Given the description of an element on the screen output the (x, y) to click on. 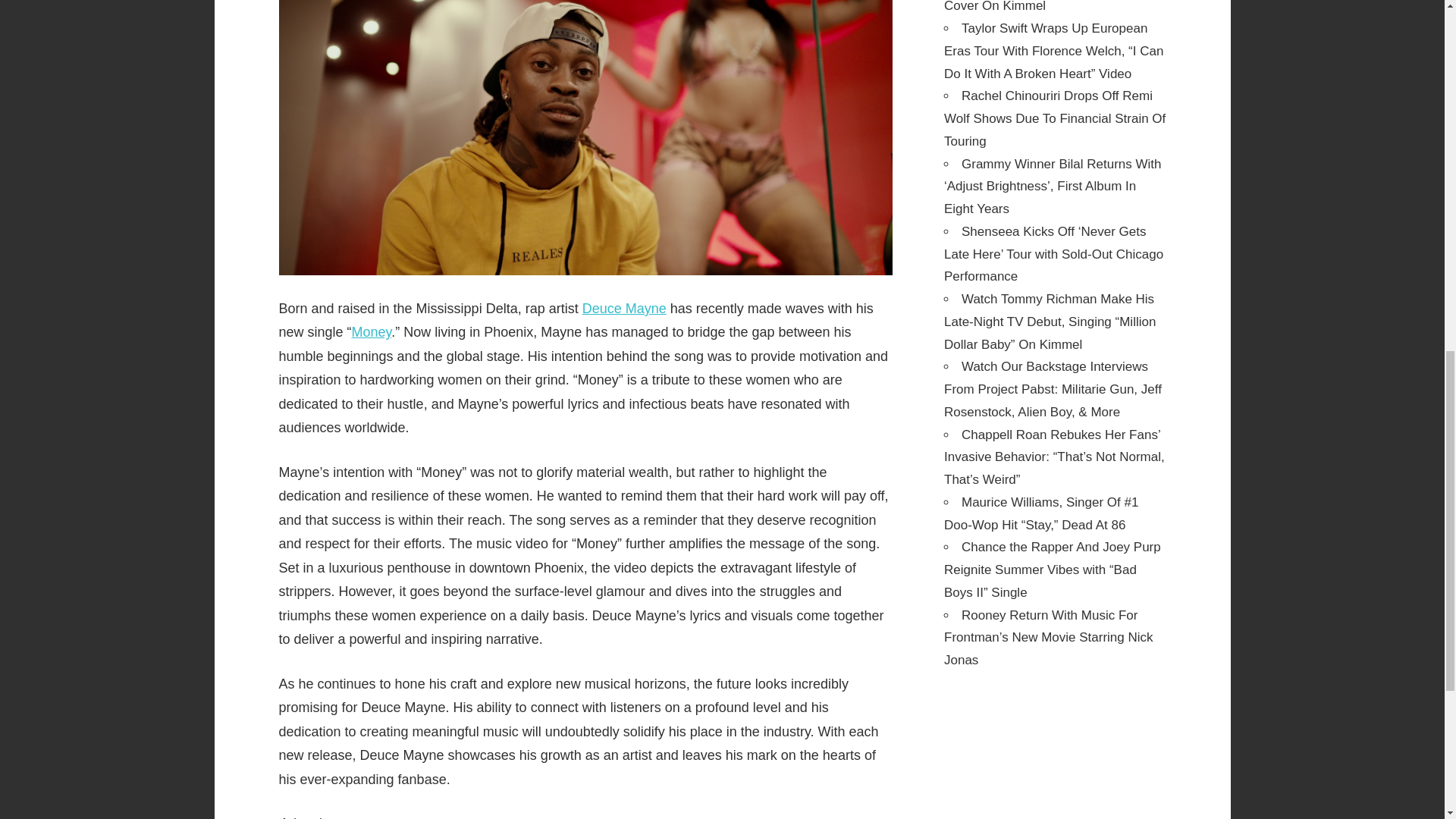
Money (371, 331)
Deuce Mayne (624, 308)
